Given the description of an element on the screen output the (x, y) to click on. 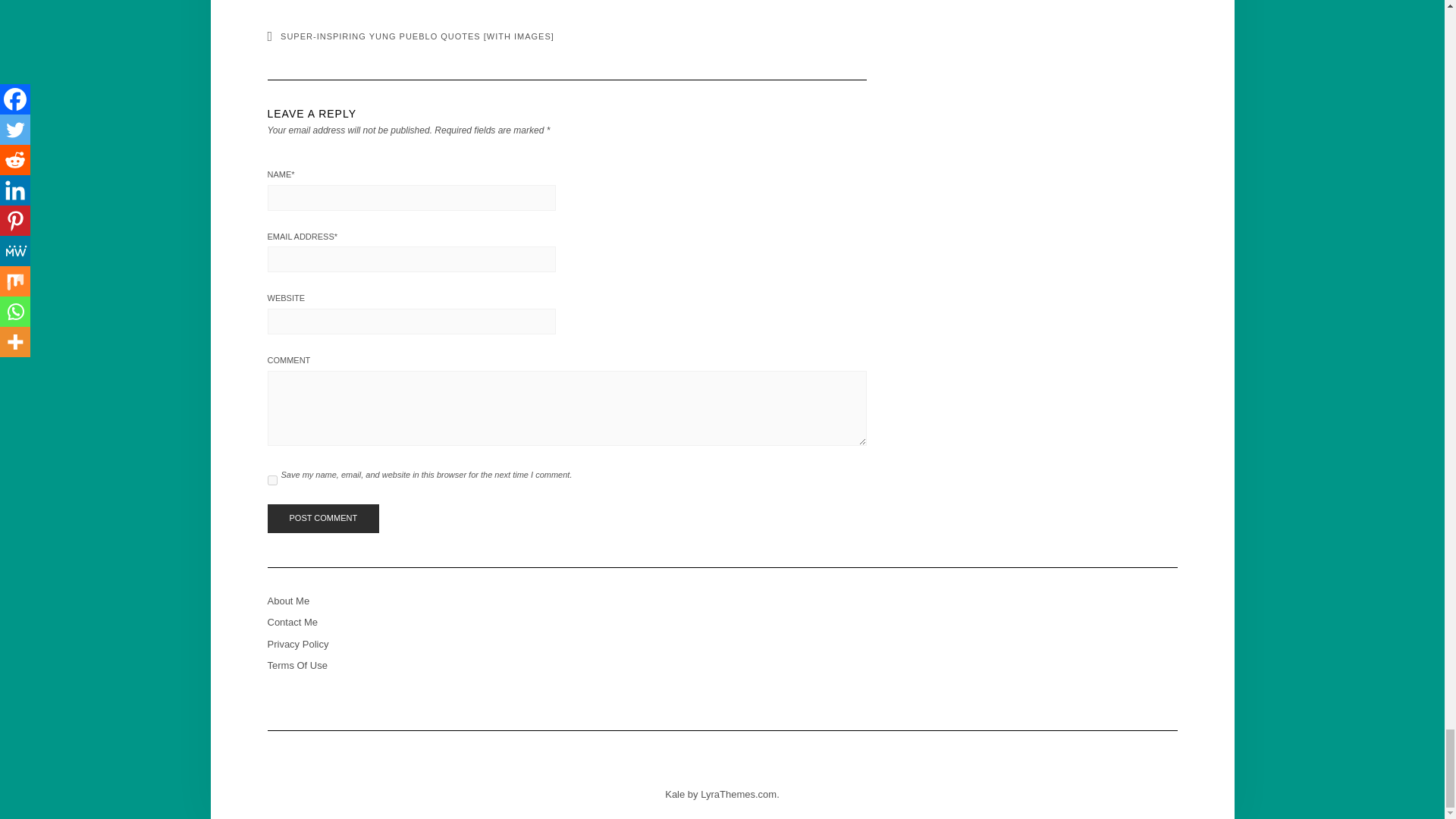
Contact Me (291, 622)
Post Comment (322, 518)
yes (271, 480)
Post Comment (322, 518)
About Me (287, 600)
